Given the description of an element on the screen output the (x, y) to click on. 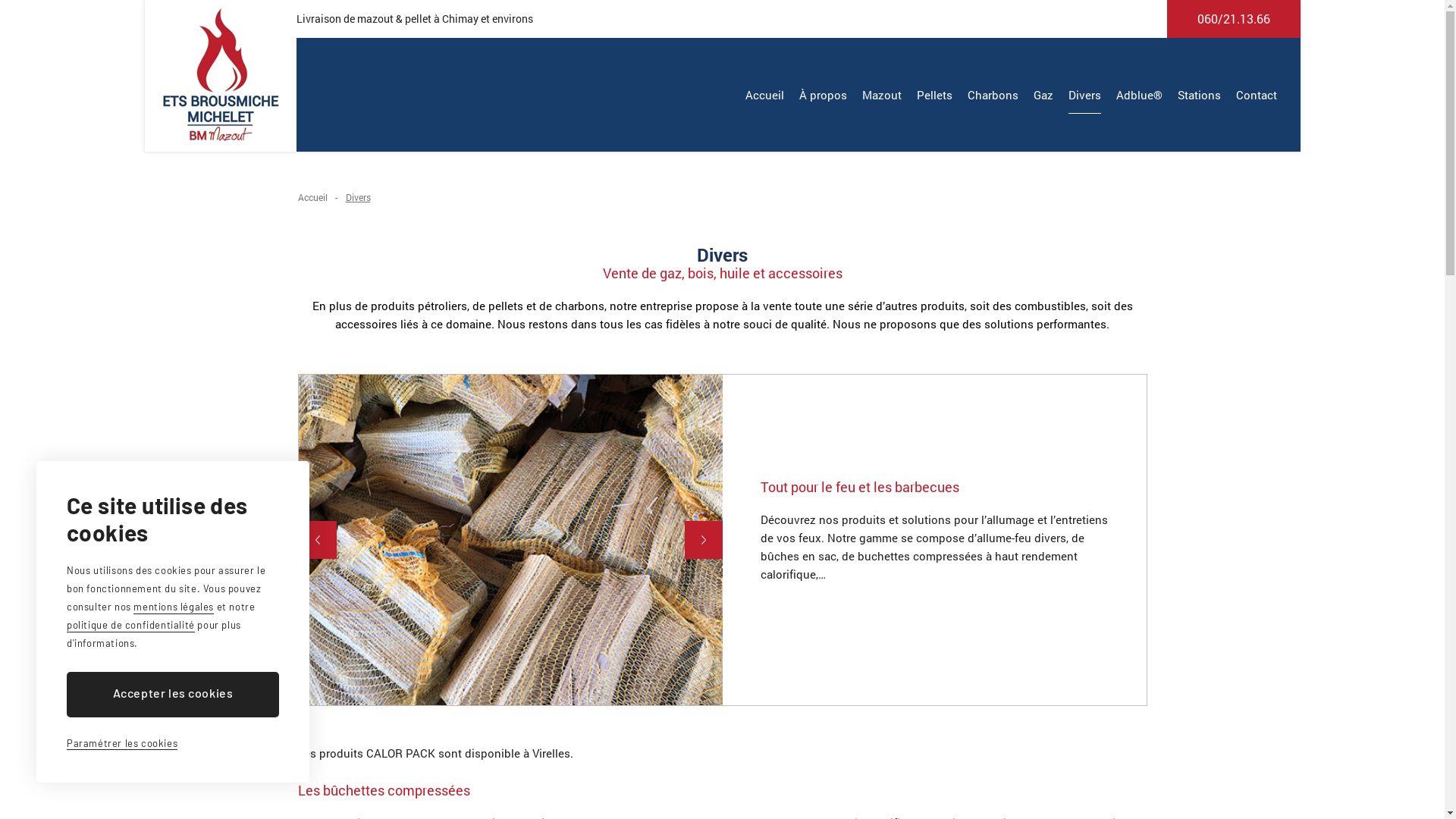
Divers Element type: text (357, 197)
Divers Element type: text (1083, 94)
060/21.13.66 Element type: text (1232, 18)
ETS Brousmiche Michelet Element type: hover (219, 75)
Contact Element type: text (1256, 94)
Pellets Element type: text (933, 94)
Next Element type: text (702, 539)
Charbons Element type: text (992, 94)
Gaz Element type: text (1042, 94)
Accueil Element type: text (763, 94)
Mazout Element type: text (880, 94)
Stations Element type: text (1198, 94)
Accueil Element type: text (311, 197)
Previous Element type: text (317, 539)
